Given the description of an element on the screen output the (x, y) to click on. 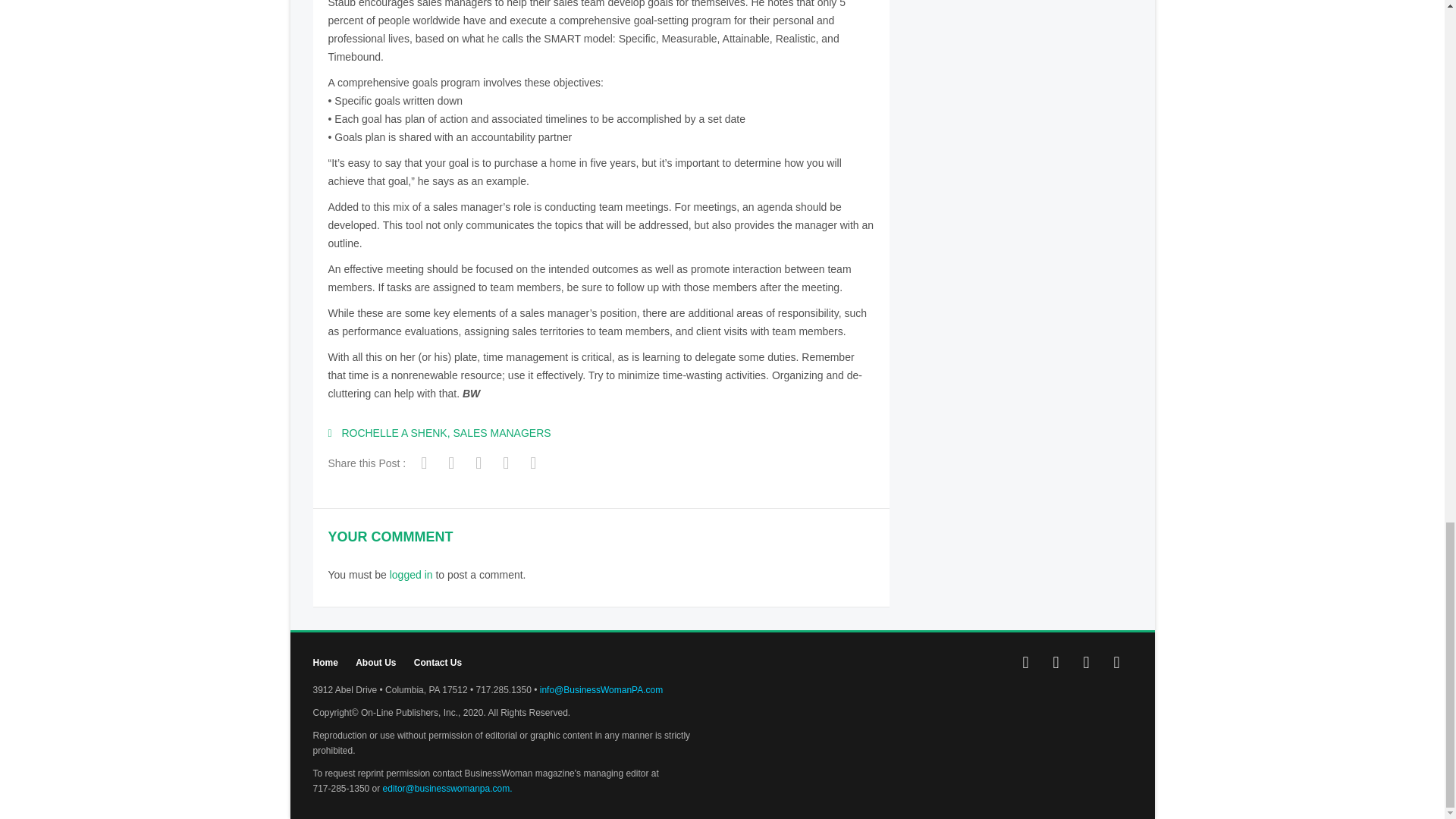
Facebook (426, 464)
YouTube (1085, 662)
ROCHELLE A SHENK (393, 432)
Email (535, 464)
Pinterest (1115, 662)
logged in (411, 574)
Twitter (1055, 662)
Twitter (480, 464)
